Given the description of an element on the screen output the (x, y) to click on. 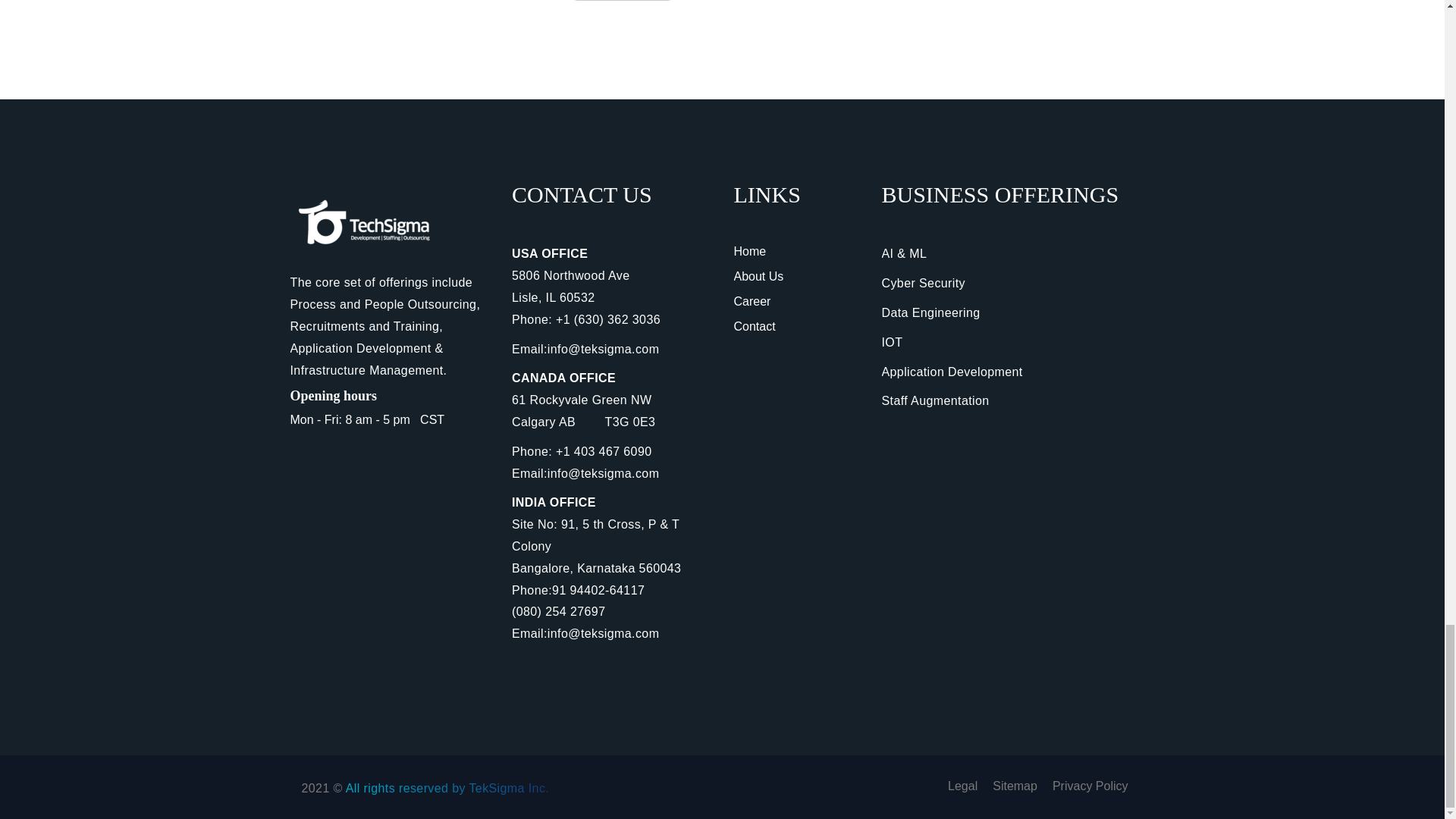
Submit (622, 0)
Privacy Policy (1090, 785)
Legal (961, 785)
About Us (758, 276)
IOT (891, 341)
Cyber Security (922, 282)
Sitemap (1014, 785)
Submit (622, 0)
Contact (754, 326)
All rights reserved by TekSigma Inc. (447, 788)
